Given the description of an element on the screen output the (x, y) to click on. 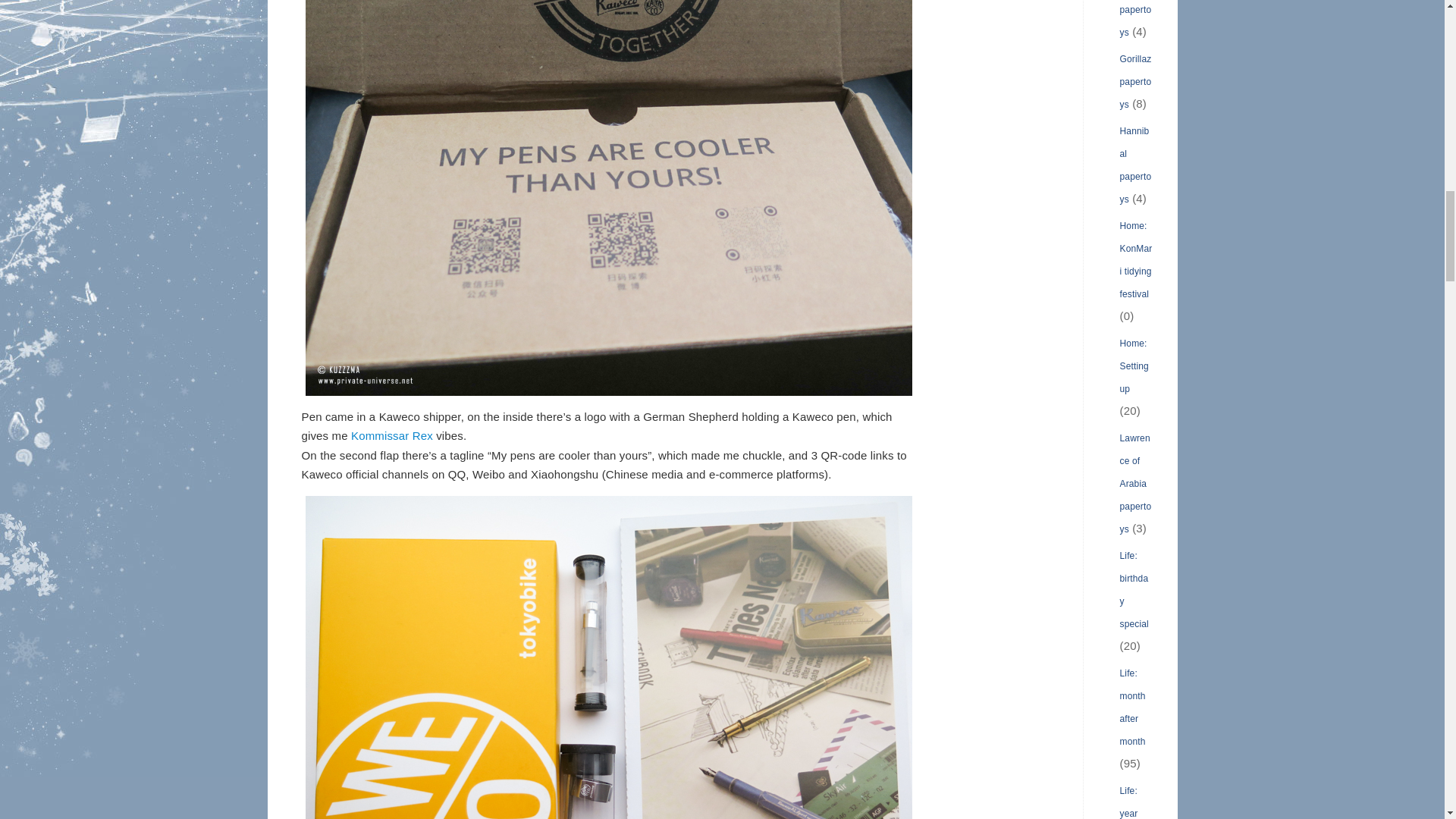
Kommissar Rex (391, 435)
